Given the description of an element on the screen output the (x, y) to click on. 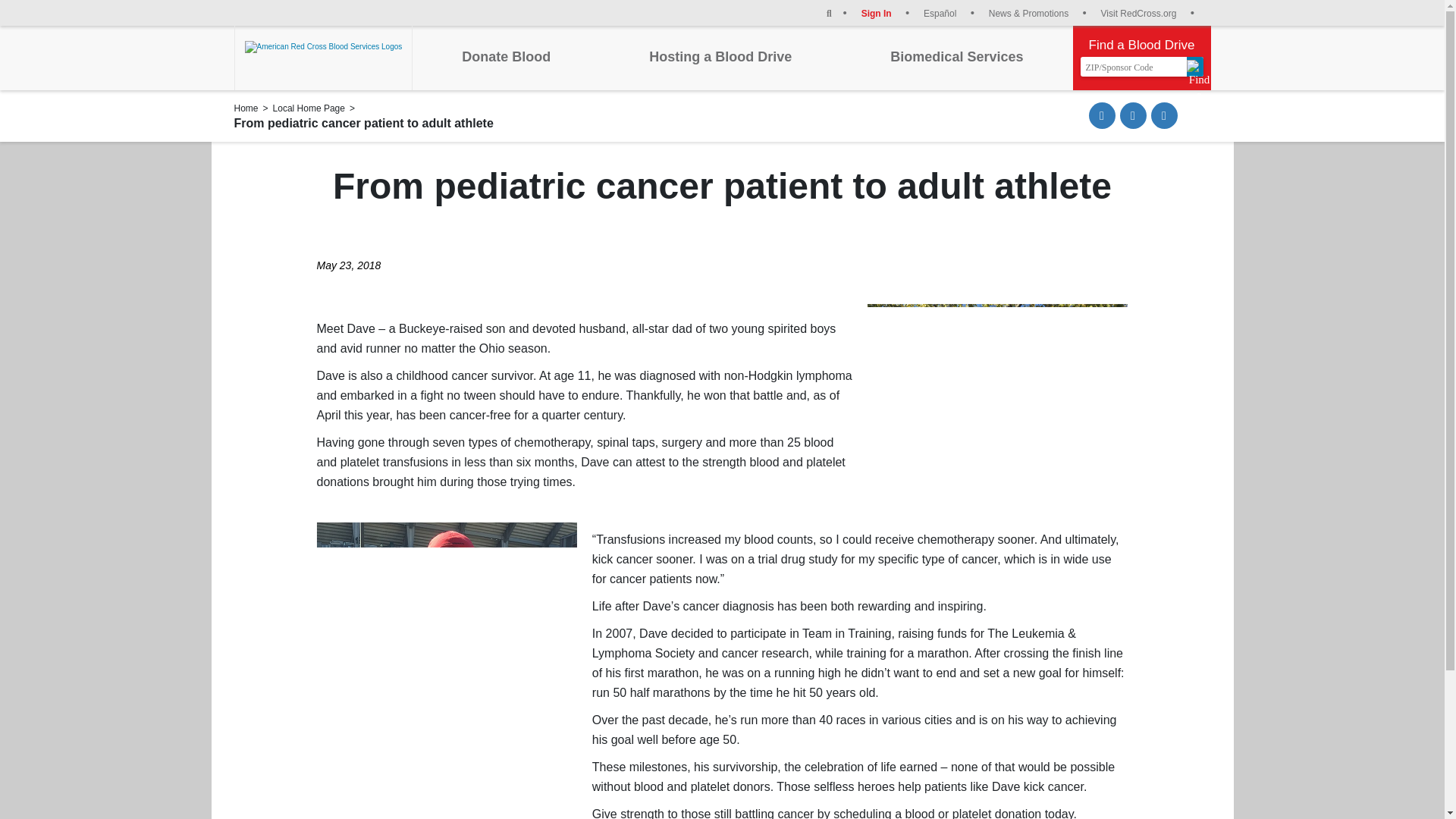
Donate Blood (505, 56)
Visit RedCross.org (1146, 13)
Donate Blood (505, 56)
Hosting a Blood Drive (720, 56)
Sign In (885, 13)
Hosting a Blood Drive (720, 56)
Share on Facebook (1132, 115)
Share via Email (1102, 115)
Tweet (1164, 115)
